Given the description of an element on the screen output the (x, y) to click on. 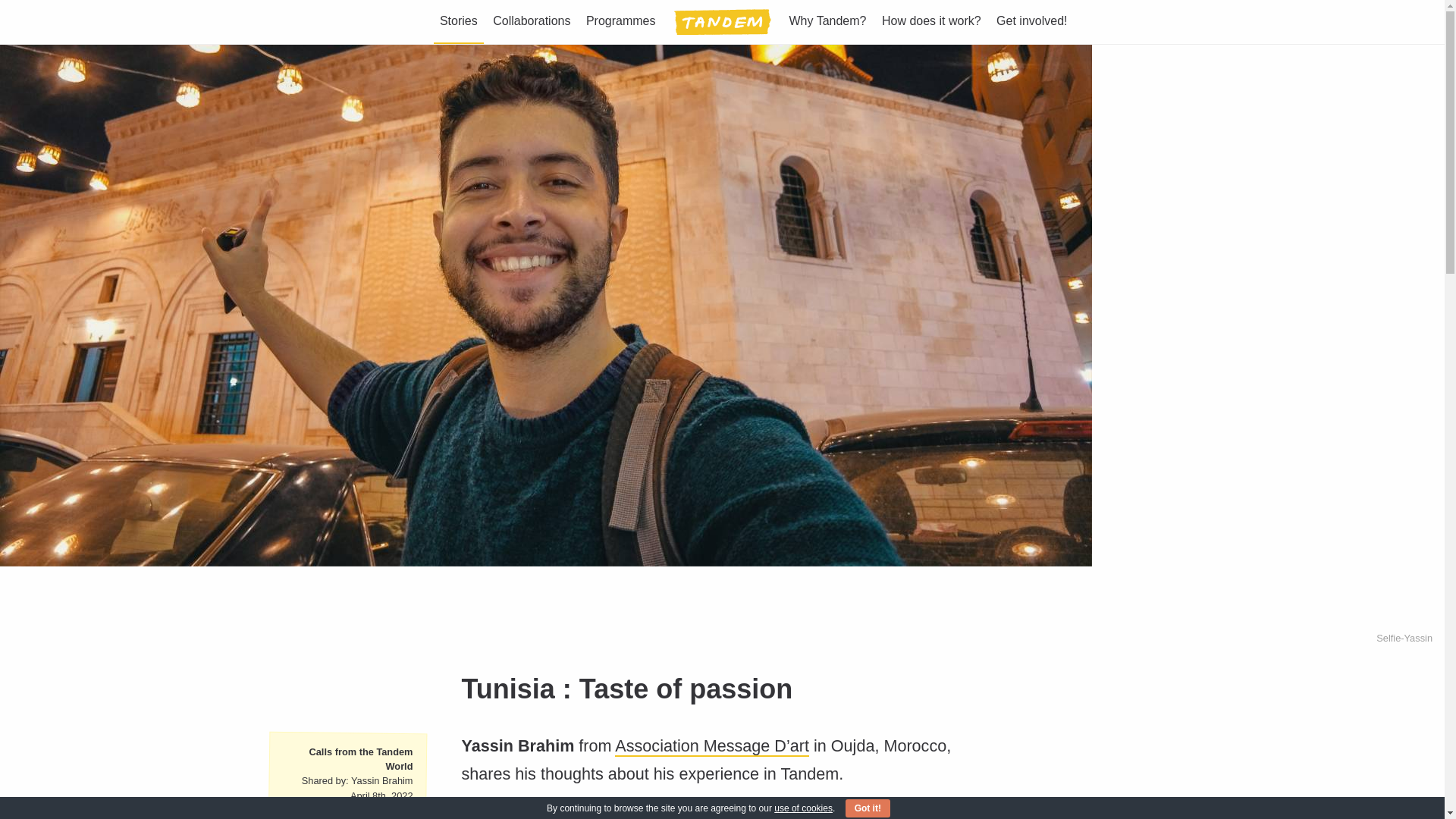
Why Tandem? (827, 21)
How does it work? (931, 21)
Stories (458, 21)
Collaborations (531, 21)
Programmes (620, 21)
Get involved! (1031, 21)
